Given the description of an element on the screen output the (x, y) to click on. 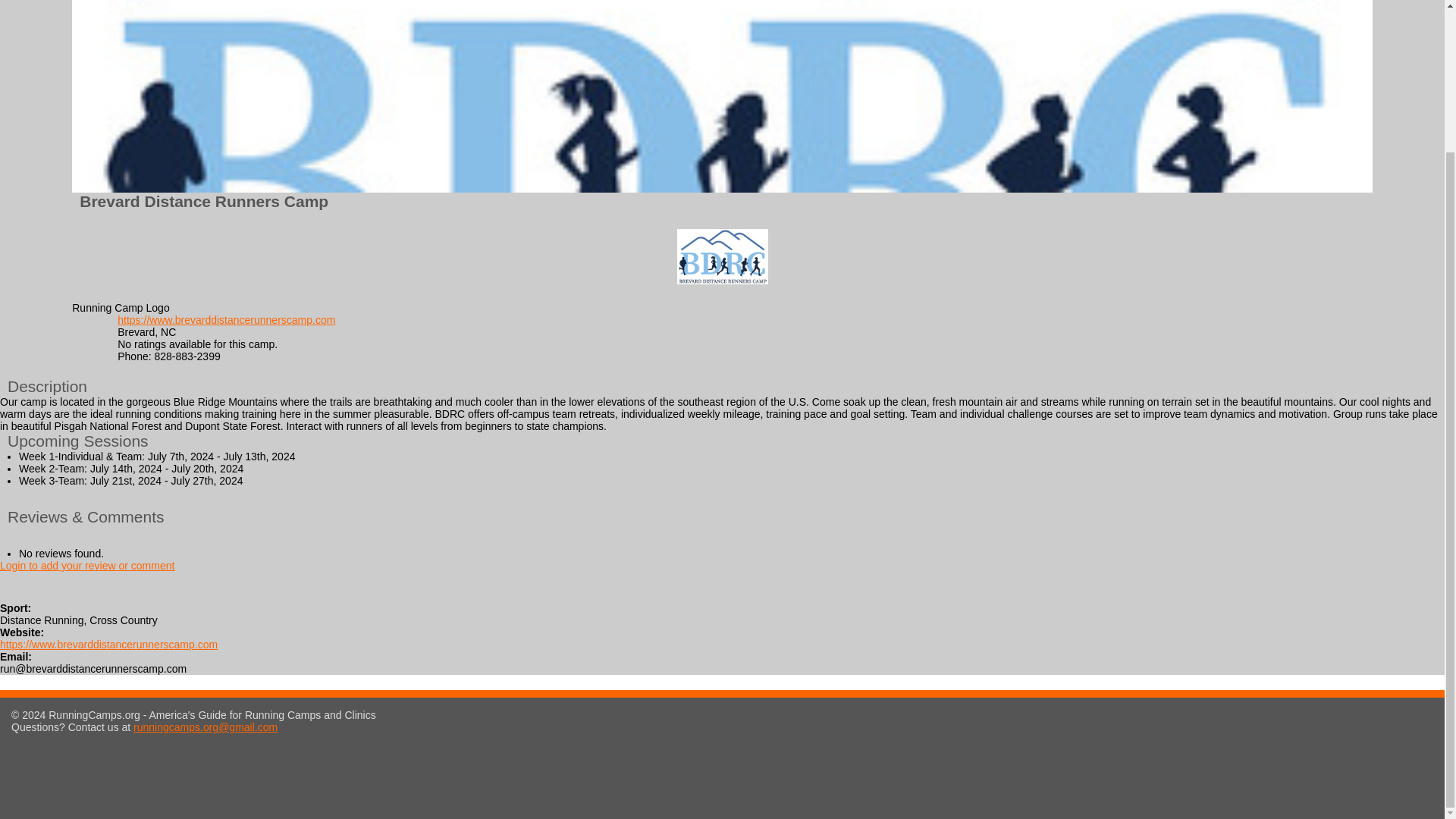
Login to add your review or comment (87, 565)
